Given the description of an element on the screen output the (x, y) to click on. 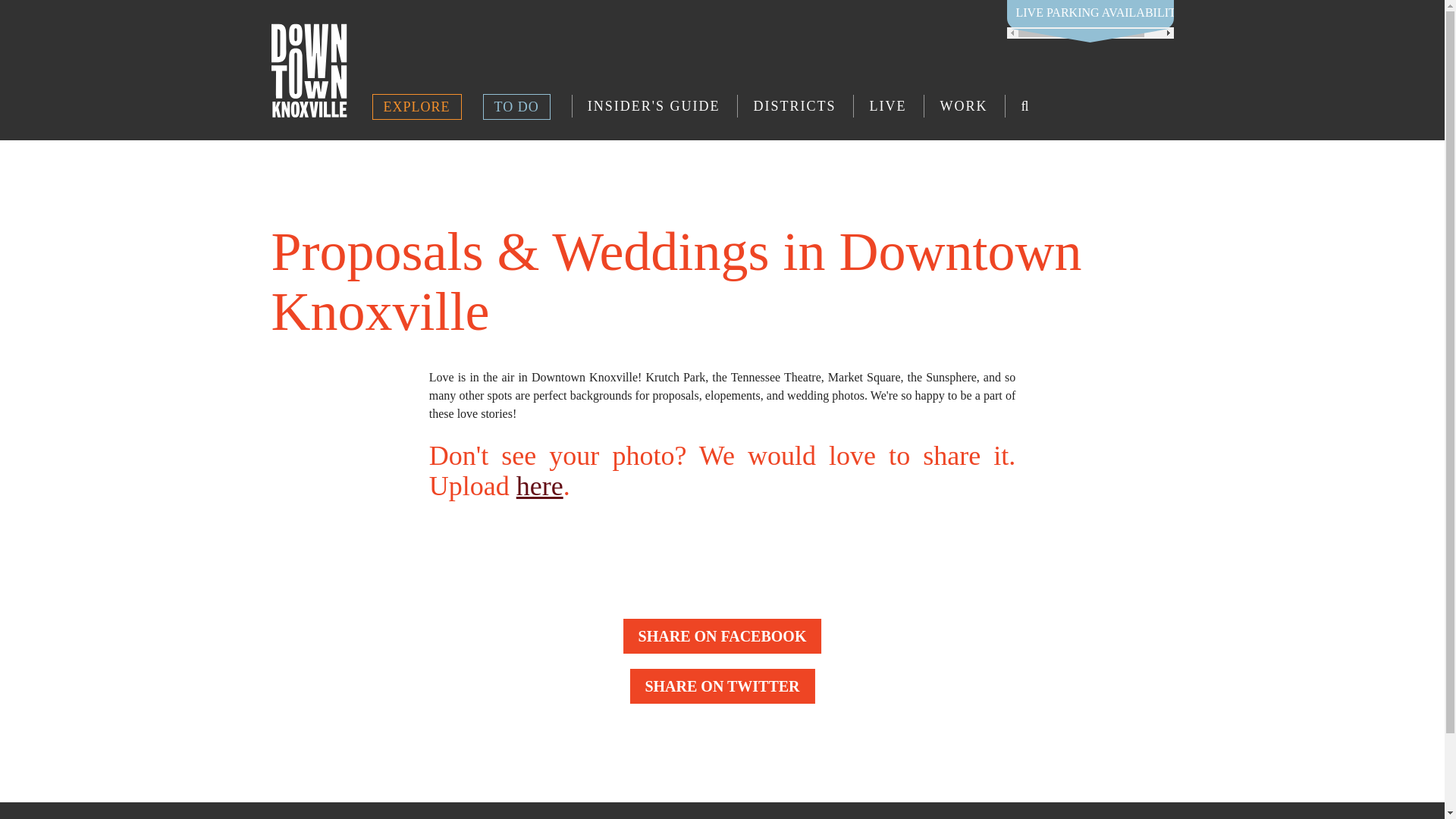
INSIDER'S GUIDE (654, 105)
EXPLORE (416, 106)
TO DO (515, 106)
LIVE (887, 105)
DISTRICTS (793, 105)
WORK (963, 105)
